Given the description of an element on the screen output the (x, y) to click on. 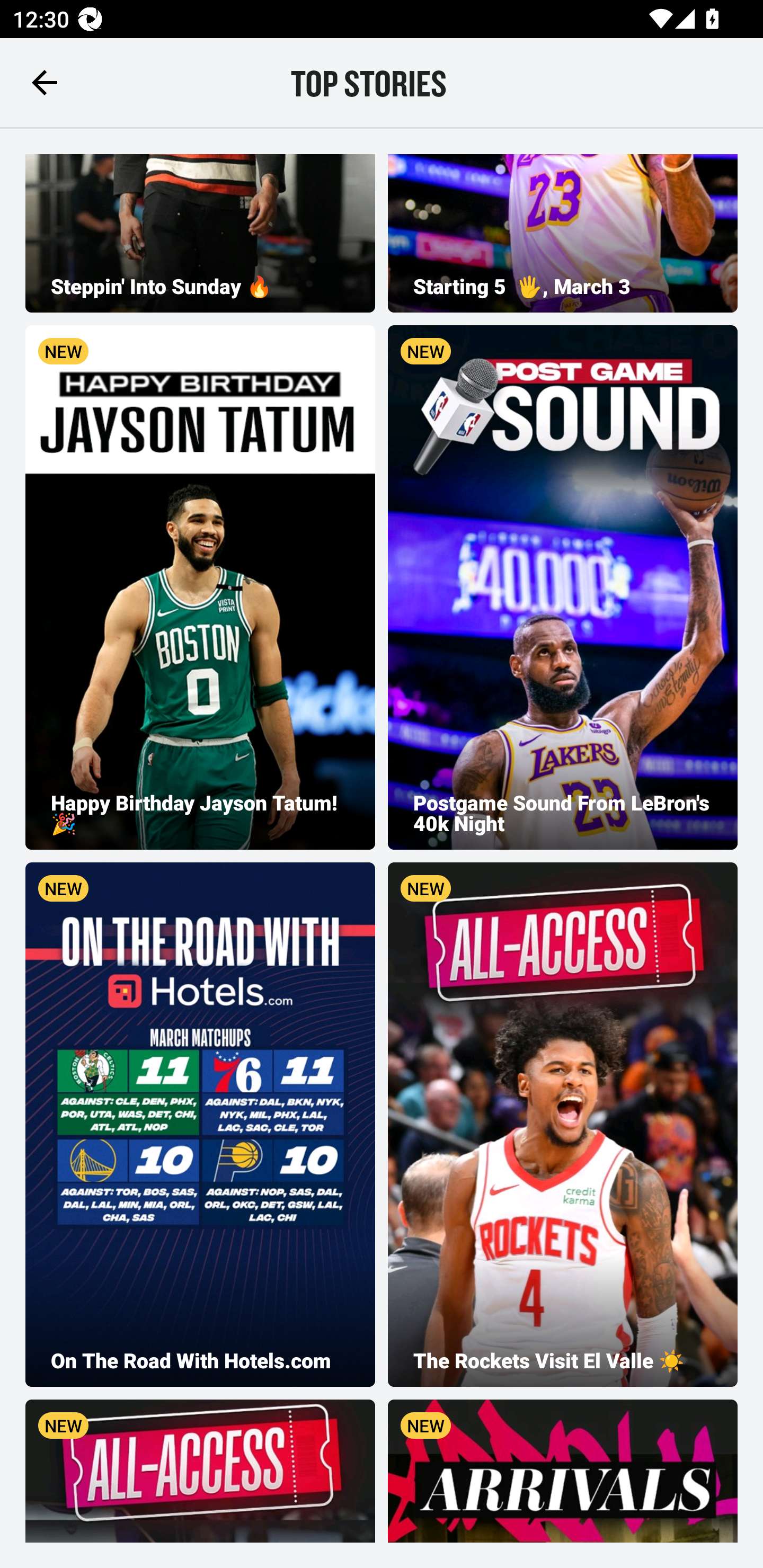
Navigate up (44, 82)
Steppin' Into Sunday 🔥 (200, 232)
Starting 5  🖐️, March 3 (562, 232)
NEW Happy Birthday Jayson Tatum! 🎉 (200, 586)
NEW Postgame Sound From LeBron's 40k Night (562, 586)
NEW On The Road With Hotels.com (200, 1124)
NEW The Rockets Visit El Valle ☀ (562, 1124)
